Given the description of an element on the screen output the (x, y) to click on. 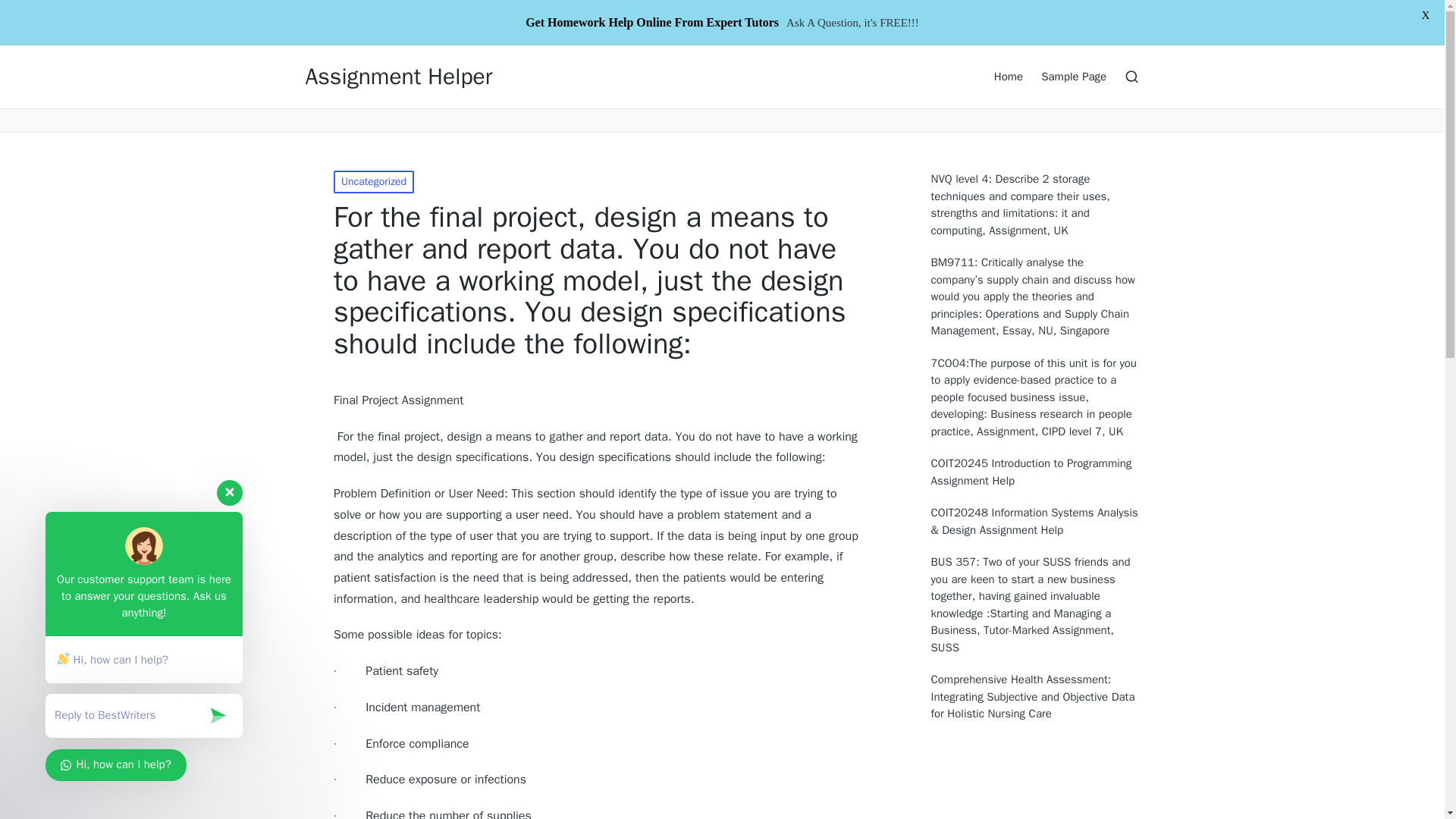
Assignment Helper (398, 76)
Sample Page (1073, 76)
Uncategorized (373, 181)
COIT20245 Introduction to Programming Assignment Help (1035, 471)
Home (1008, 76)
